Given the description of an element on the screen output the (x, y) to click on. 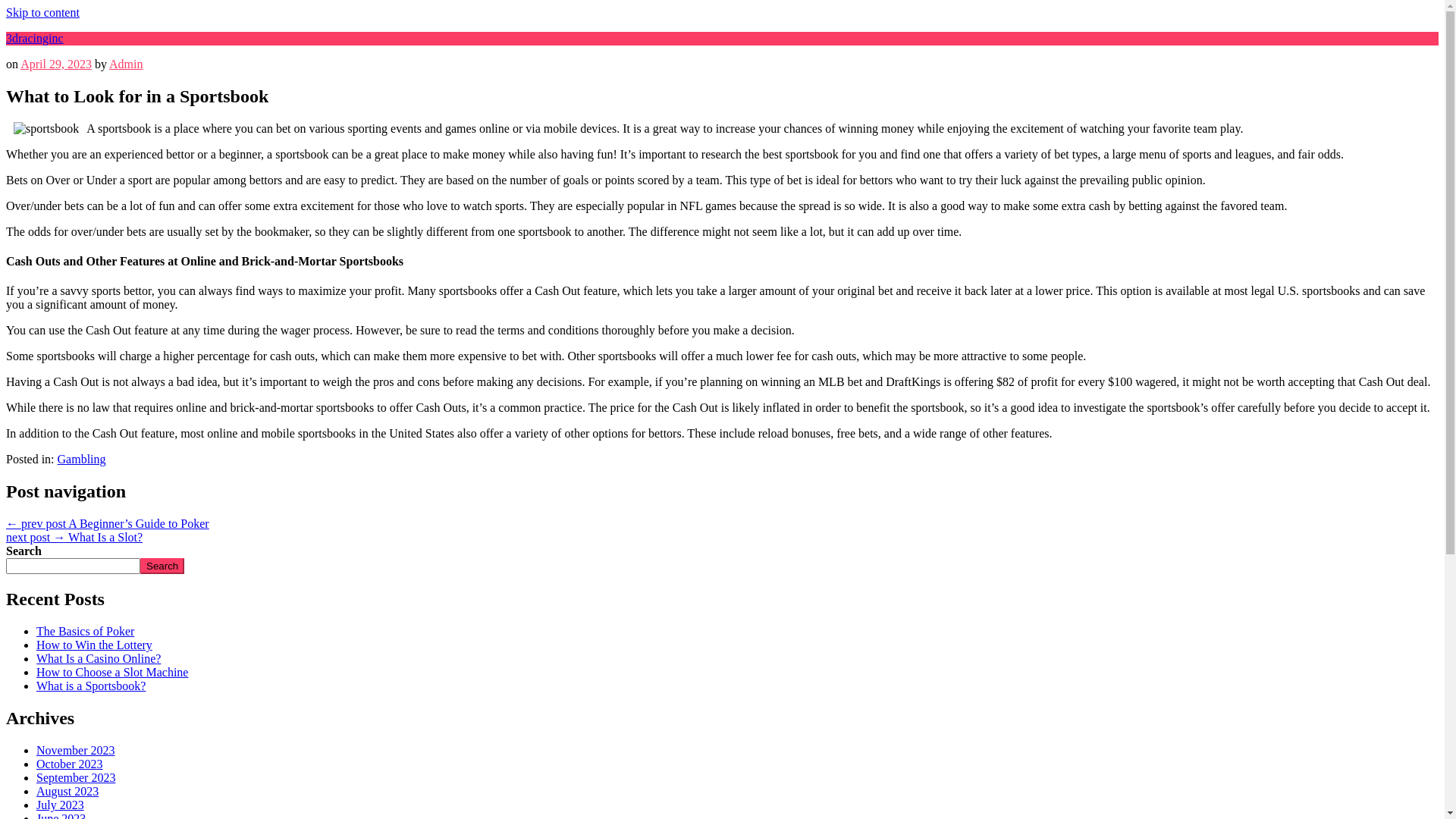
What is a Sportsbook? Element type: text (90, 685)
August 2023 Element type: text (67, 790)
The Basics of Poker Element type: text (85, 630)
Admin Element type: text (125, 63)
3dracinginc Element type: text (34, 37)
What Is a Casino Online? Element type: text (98, 658)
How to Choose a Slot Machine Element type: text (112, 671)
Skip to content Element type: text (42, 12)
Search Element type: text (162, 566)
September 2023 Element type: text (75, 777)
April 29, 2023 Element type: text (55, 63)
July 2023 Element type: text (60, 804)
How to Win the Lottery Element type: text (94, 644)
October 2023 Element type: text (69, 763)
November 2023 Element type: text (75, 749)
Gambling Element type: text (81, 458)
